Given the description of an element on the screen output the (x, y) to click on. 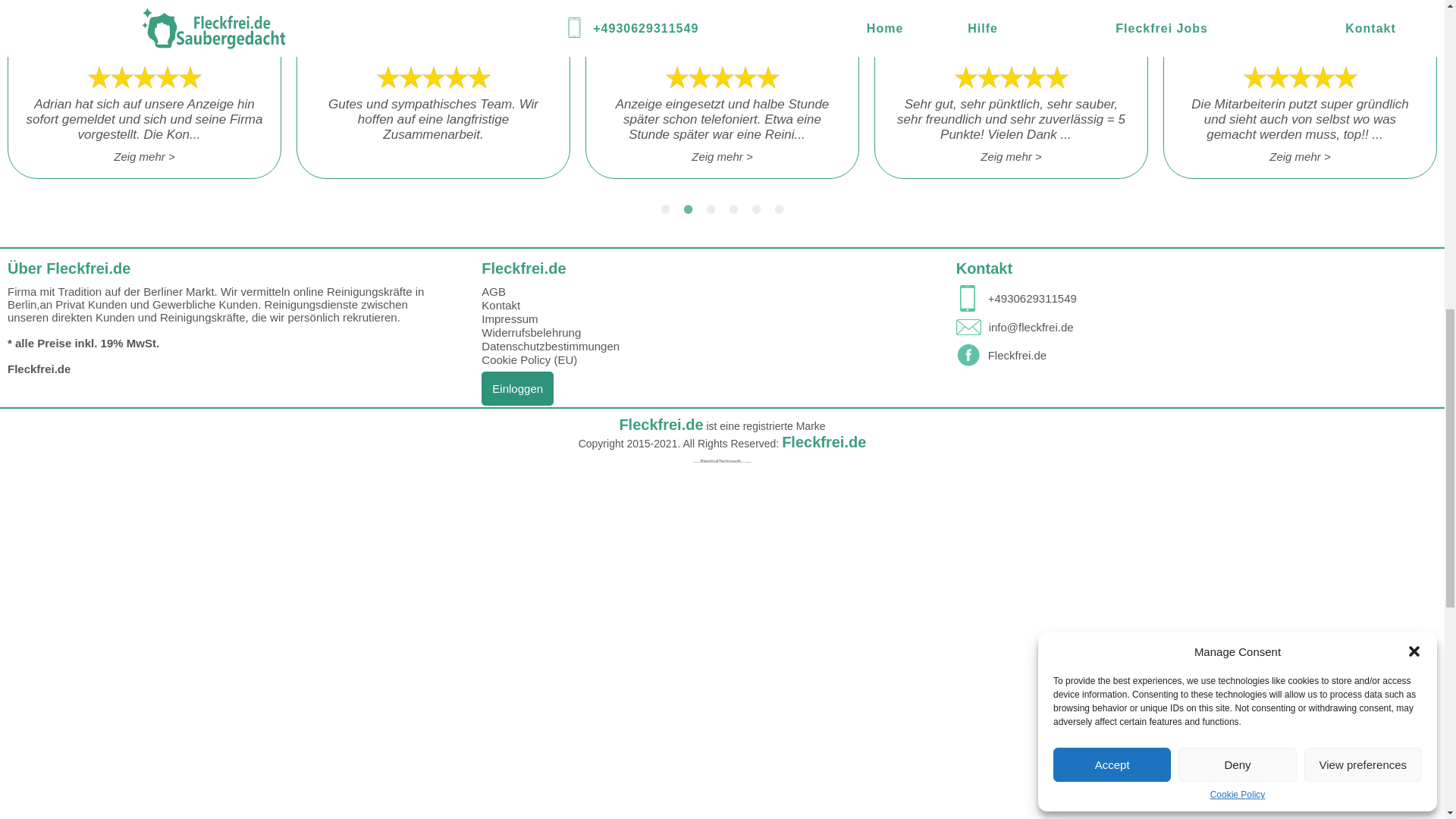
4 (733, 209)
3 (711, 209)
2 (688, 209)
1 (665, 209)
5 (756, 209)
